Given the description of an element on the screen output the (x, y) to click on. 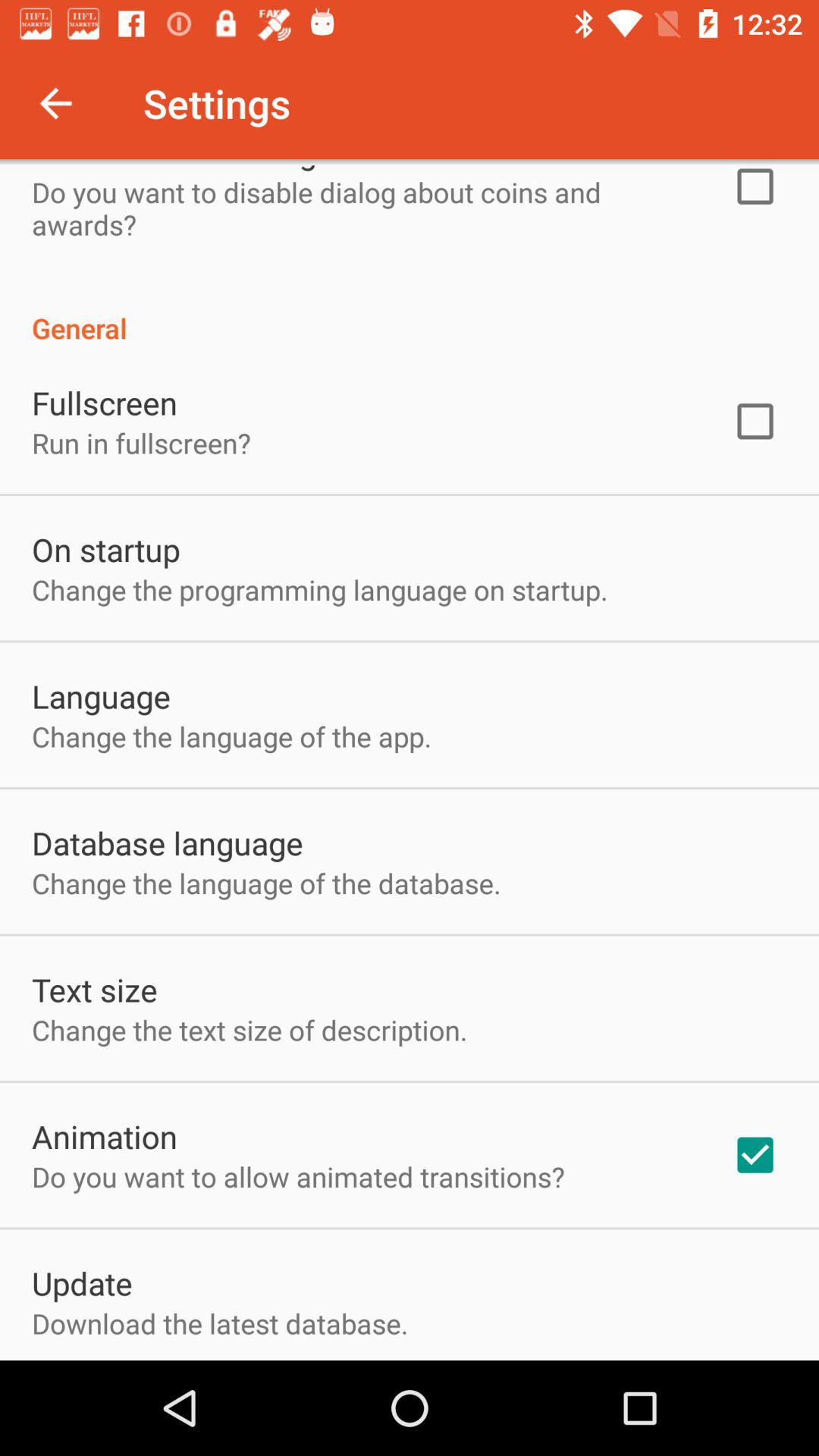
turn on the update item (81, 1282)
